Given the description of an element on the screen output the (x, y) to click on. 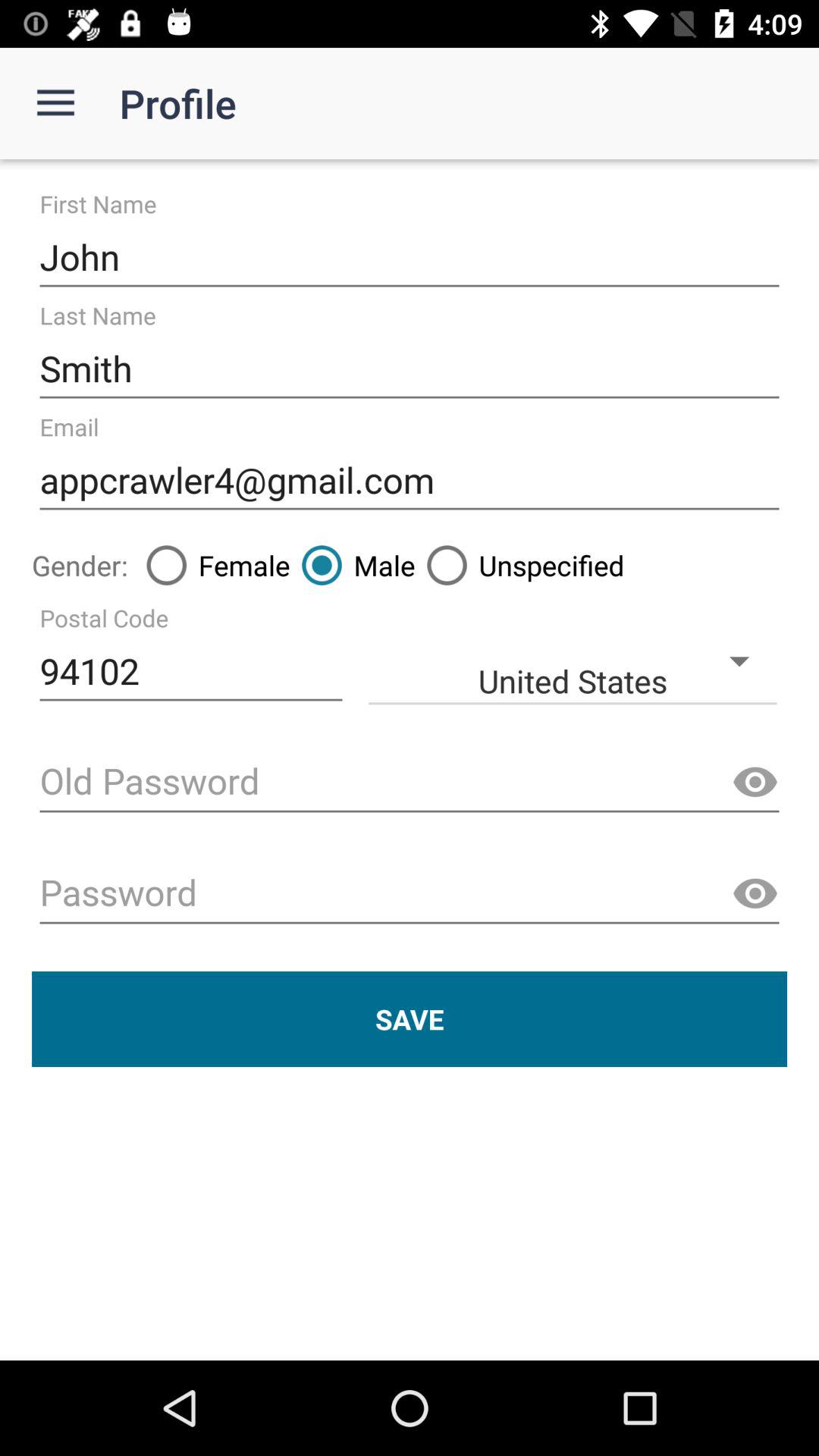
turn off the icon next to the unspecified icon (352, 565)
